Given the description of an element on the screen output the (x, y) to click on. 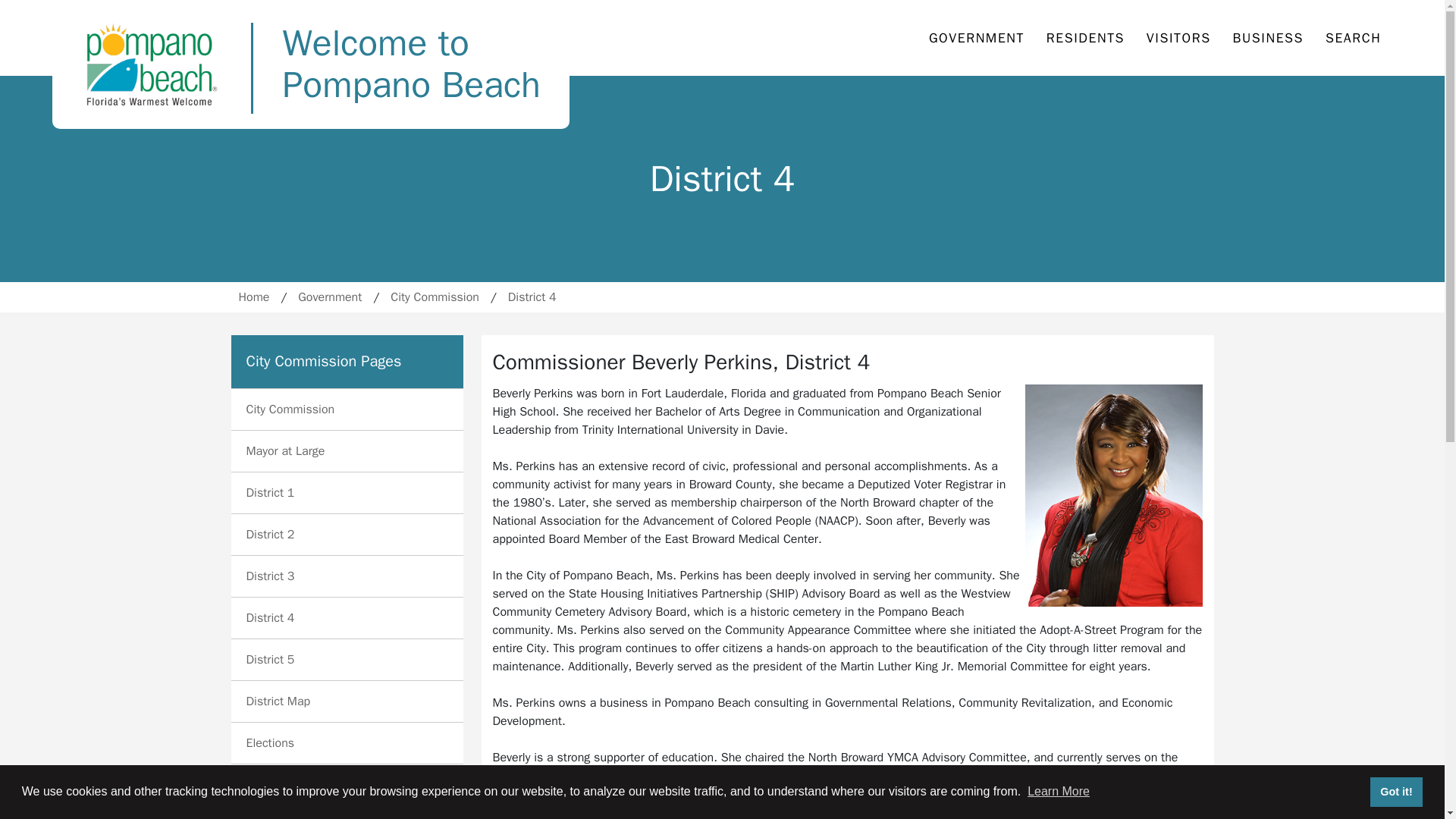
District 4 (532, 296)
District 5 (270, 659)
District 4 (270, 617)
Home (253, 296)
BUSINESS (1267, 38)
City Commission (290, 409)
City Commission (434, 296)
Broward County Ethics (305, 784)
District 3 (270, 575)
District 2 (310, 64)
SEARCH (270, 534)
Government (1352, 38)
District 1 (329, 296)
Mayor at Large (270, 492)
